Given the description of an element on the screen output the (x, y) to click on. 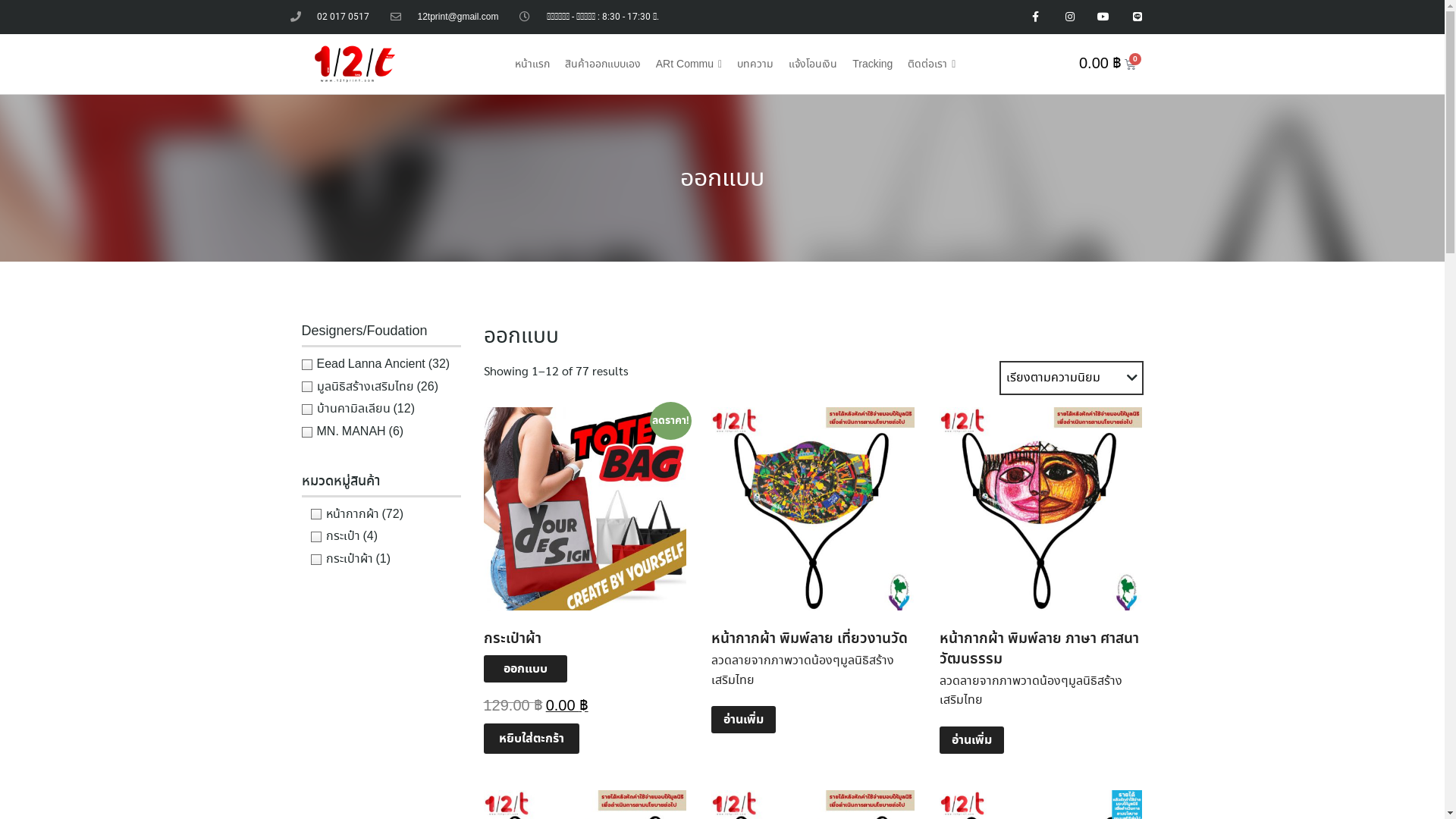
12tprint@gmail.com Element type: text (444, 16)
Tracking Element type: text (872, 63)
ARt Commu Element type: text (688, 63)
